Given the description of an element on the screen output the (x, y) to click on. 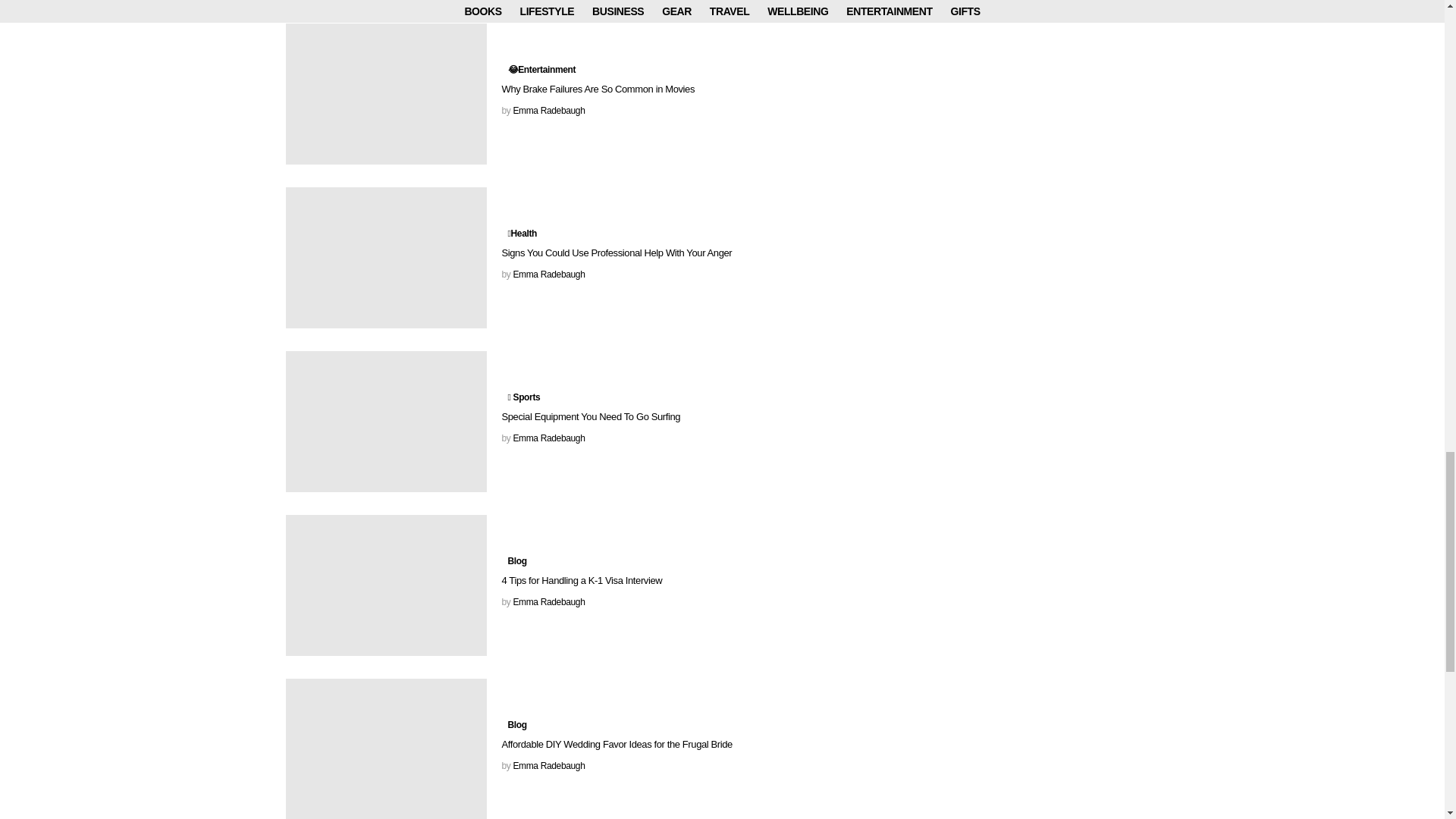
Affordable DIY Wedding Favor Ideas for the Frugal Bride (385, 748)
Posts by Emma Radebaugh (548, 765)
Special Equipment You Need To Go Surfing (385, 421)
Posts by Emma Radebaugh (548, 602)
Why Brake Failures Are So Common in Movies (385, 93)
4 Tips for Handling a K-1 Visa Interview (385, 585)
Posts by Emma Radebaugh (548, 110)
Posts by Emma Radebaugh (548, 274)
Signs You Could Use Professional Help With Your Anger (385, 257)
Posts by Emma Radebaugh (548, 438)
